Given the description of an element on the screen output the (x, y) to click on. 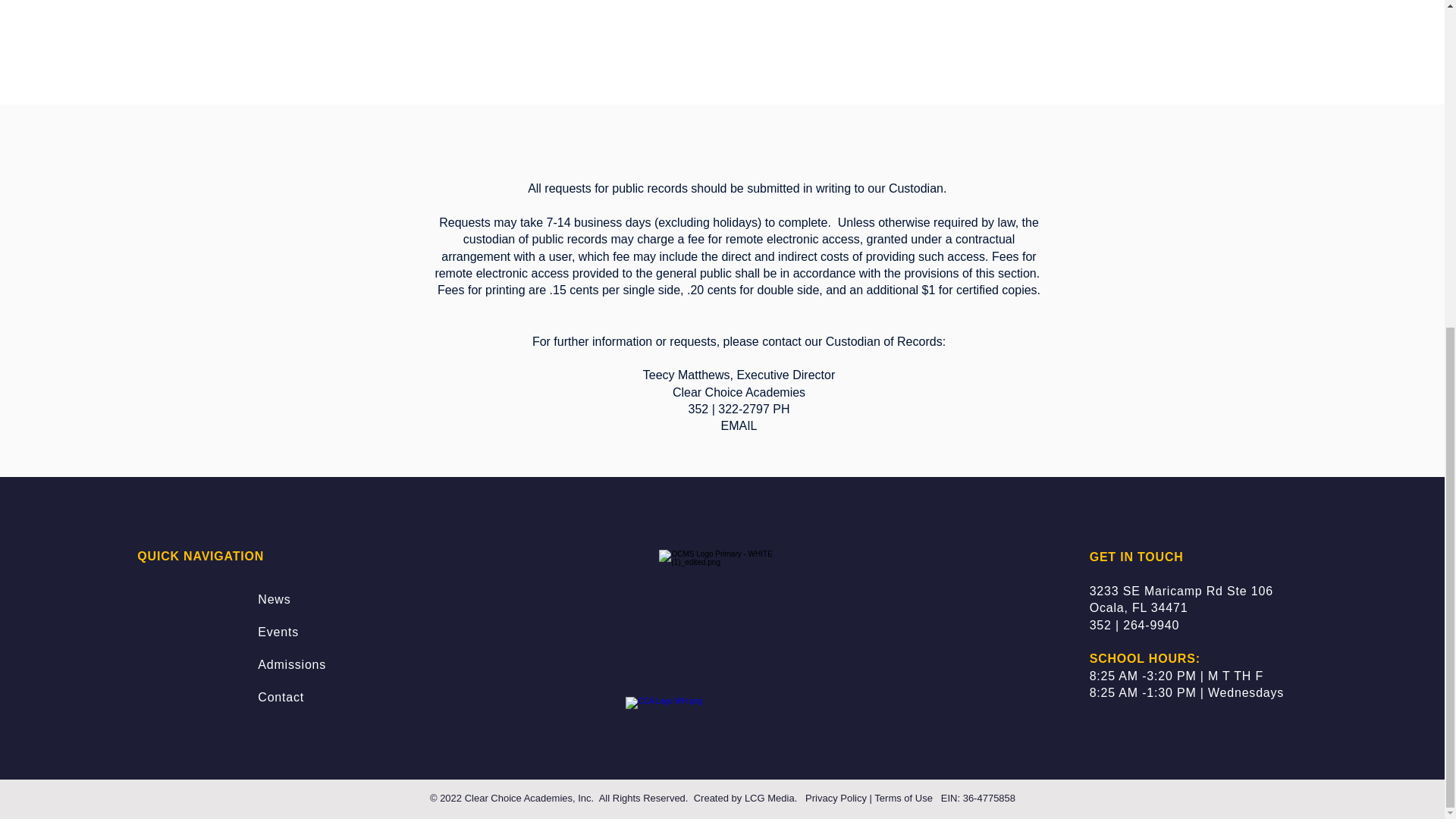
Admissions (291, 664)
Events (277, 631)
News (273, 599)
Contact (280, 697)
OCHS Logo Vertical WH.png (722, 708)
